Given the description of an element on the screen output the (x, y) to click on. 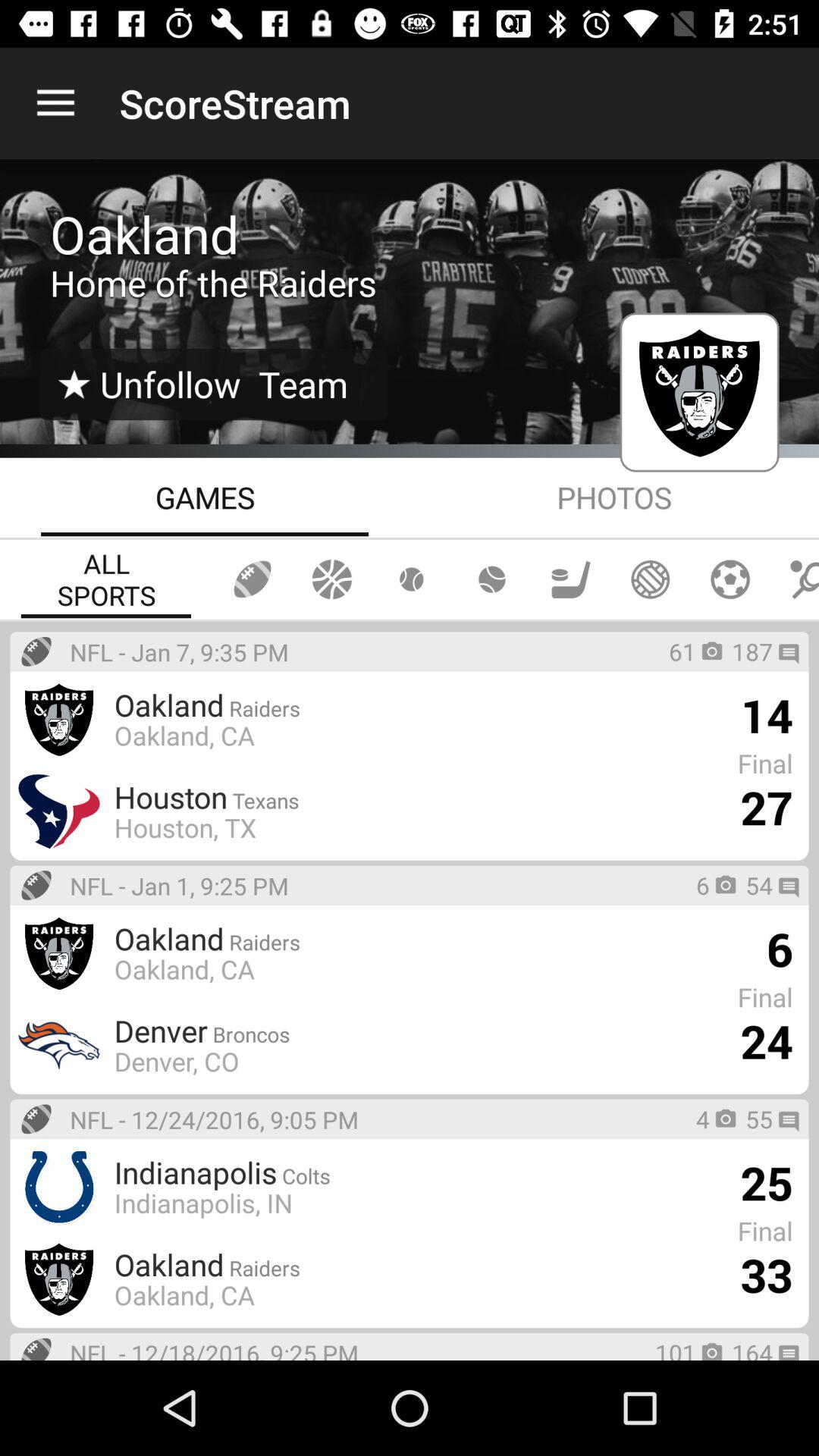
open icon next to the nfl 12 18 app (675, 1348)
